Given the description of an element on the screen output the (x, y) to click on. 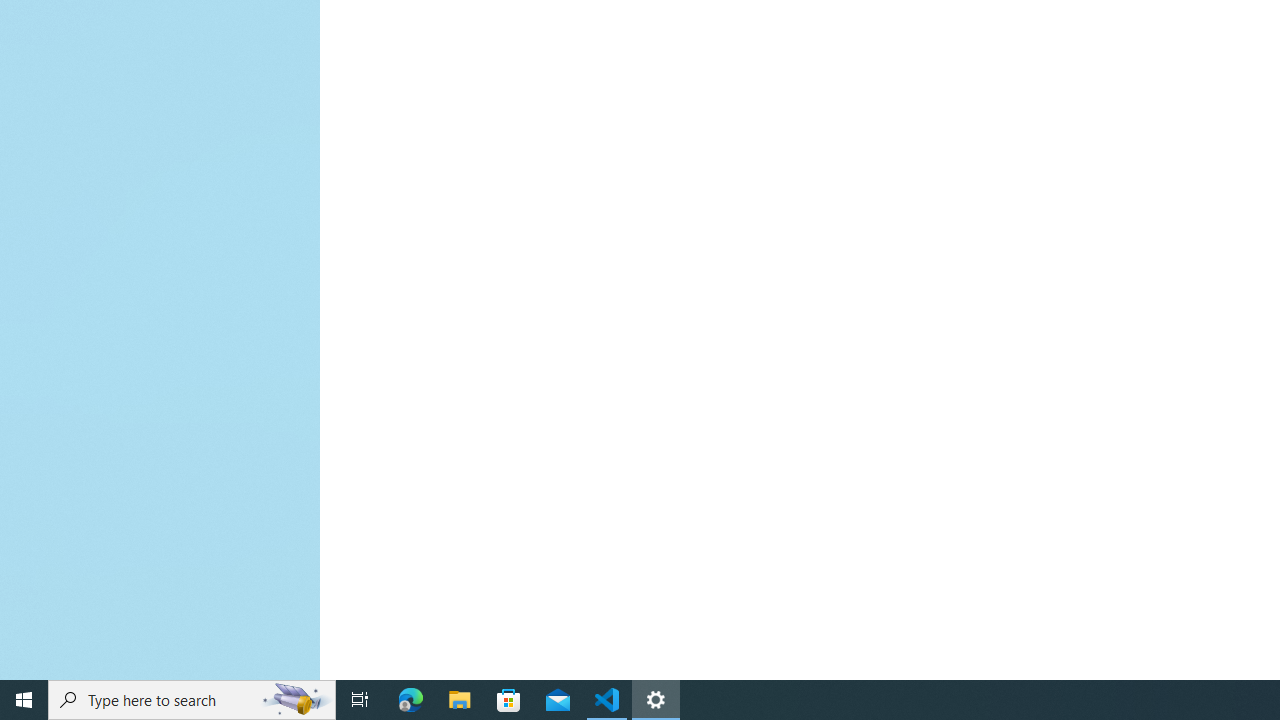
Settings - 1 running window (656, 699)
